Given the description of an element on the screen output the (x, y) to click on. 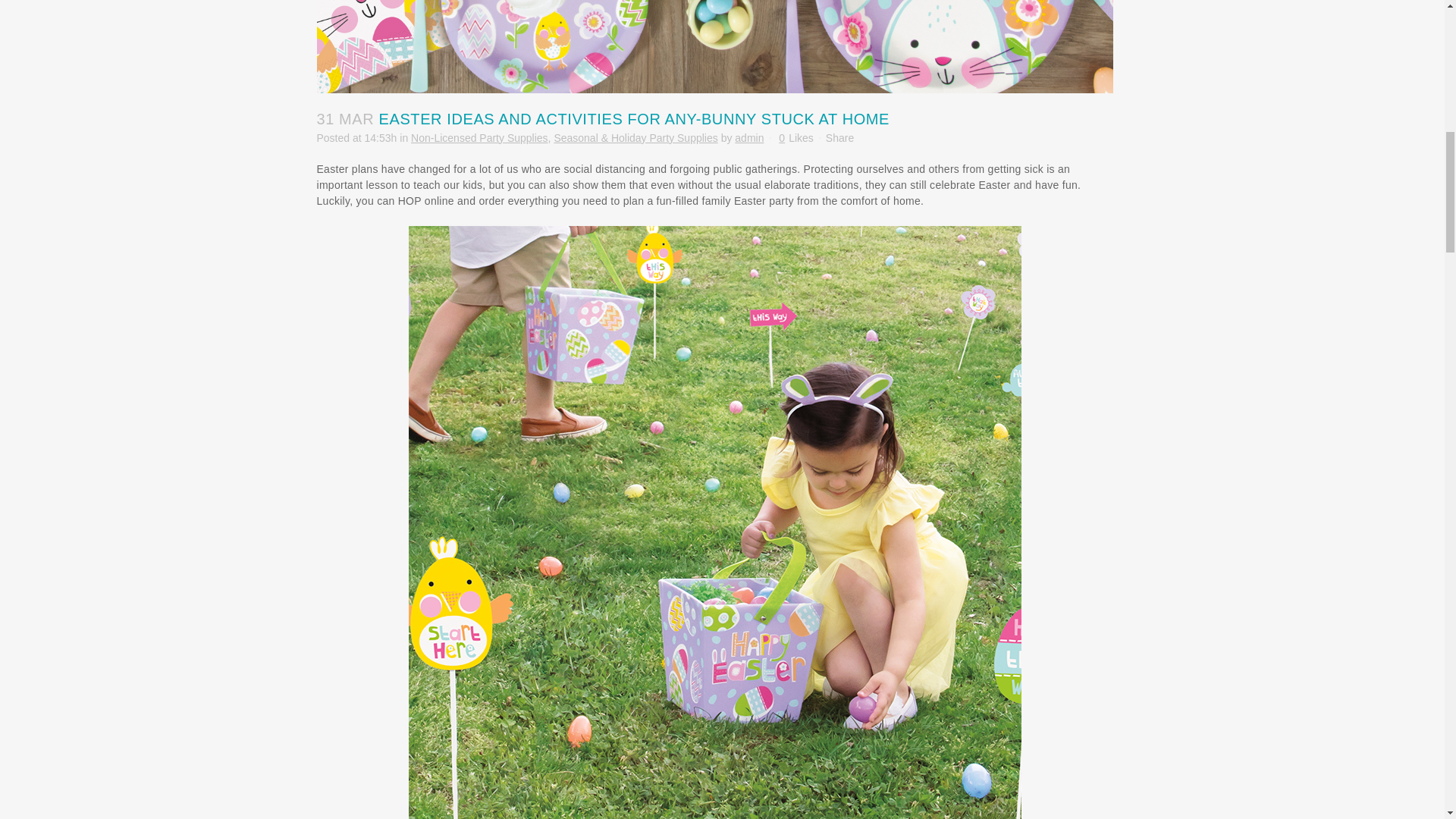
Share (839, 137)
Non-Licensed Party Supplies (479, 137)
0 Likes (795, 136)
Like this (795, 136)
admin (748, 137)
